Given the description of an element on the screen output the (x, y) to click on. 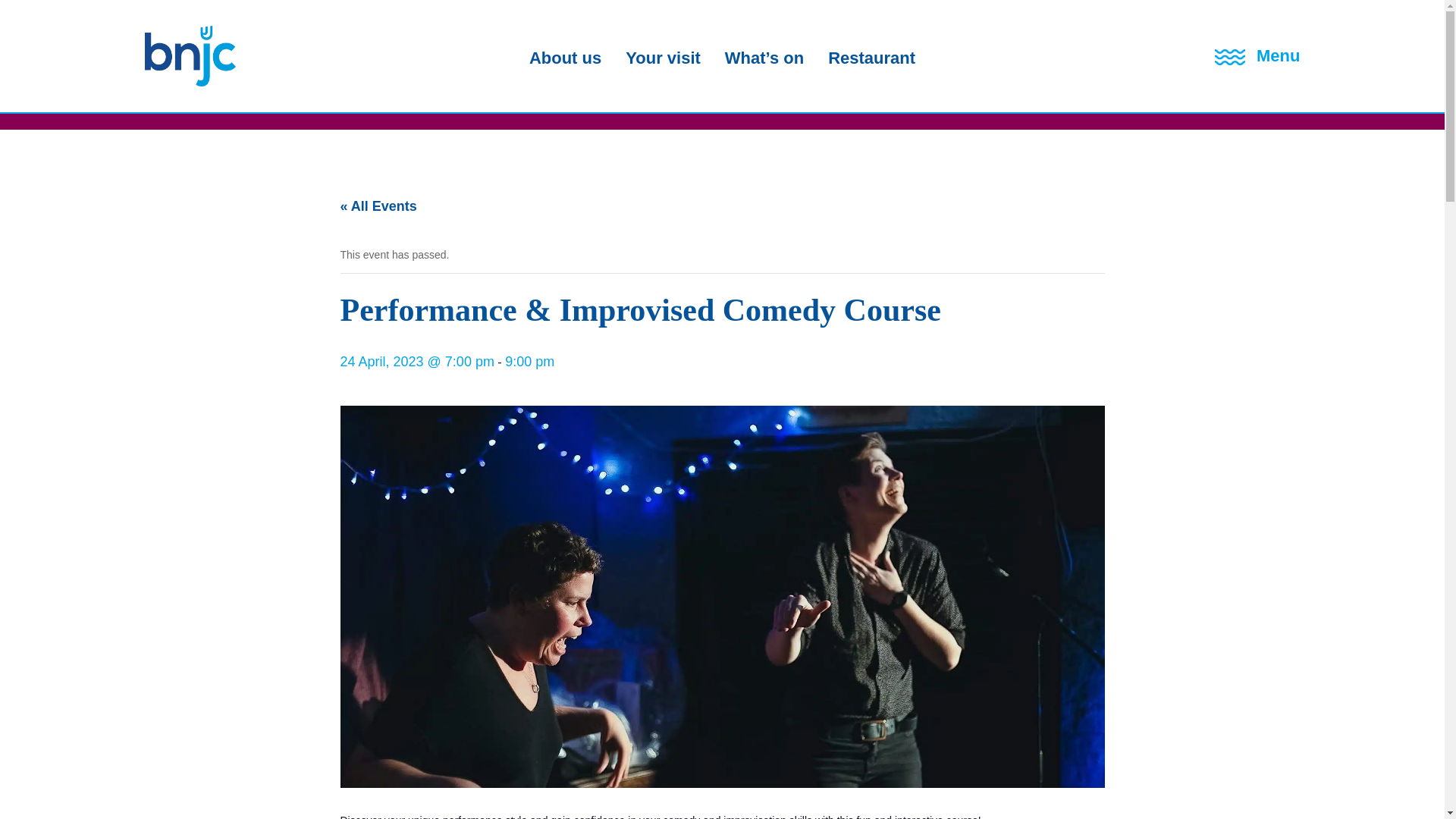
Your visit (663, 59)
About us (565, 59)
Restaurant (871, 59)
bnjc-logo (189, 82)
